Given the description of an element on the screen output the (x, y) to click on. 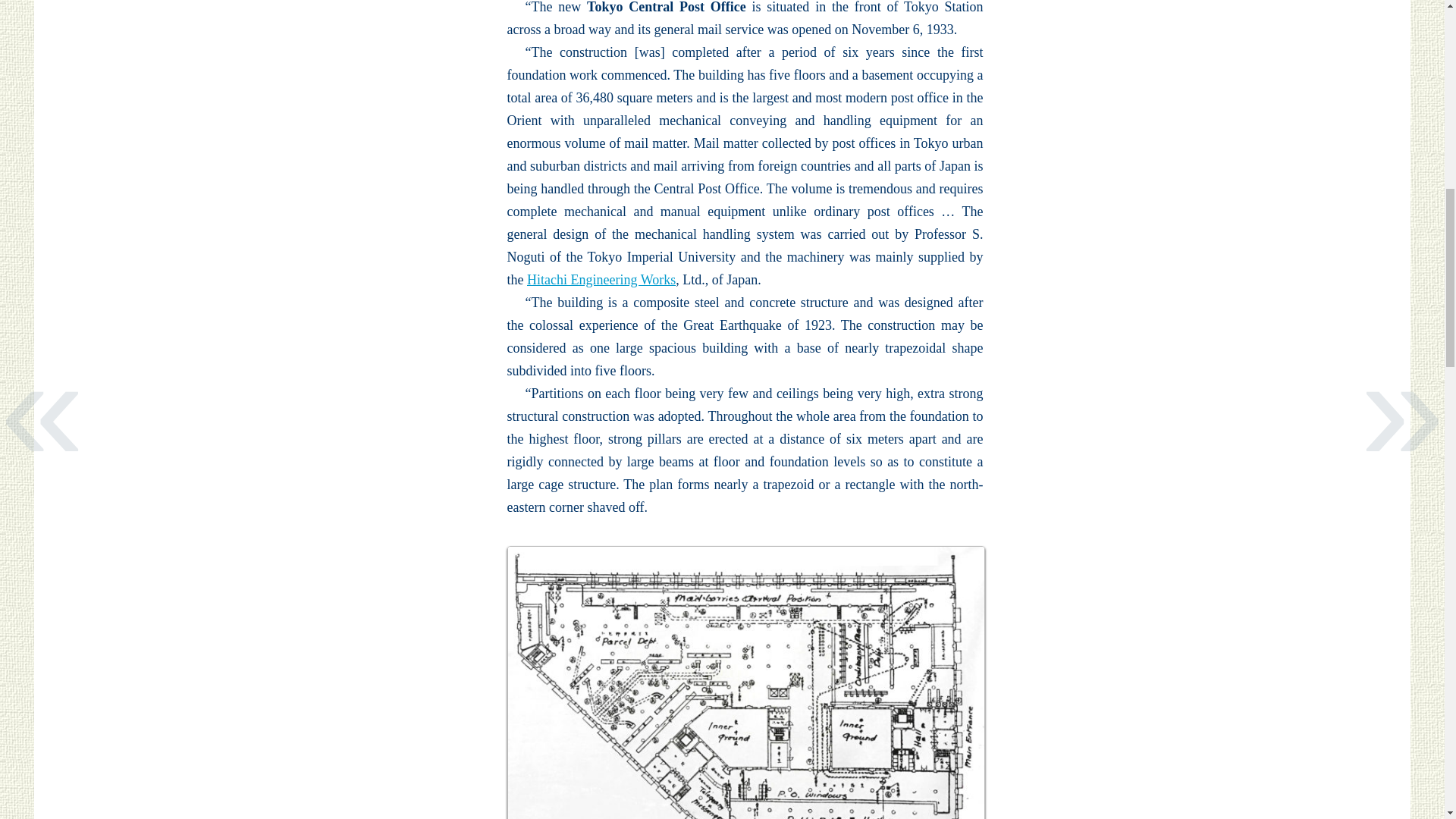
Hitachi Engineering Works (601, 279)
